Given the description of an element on the screen output the (x, y) to click on. 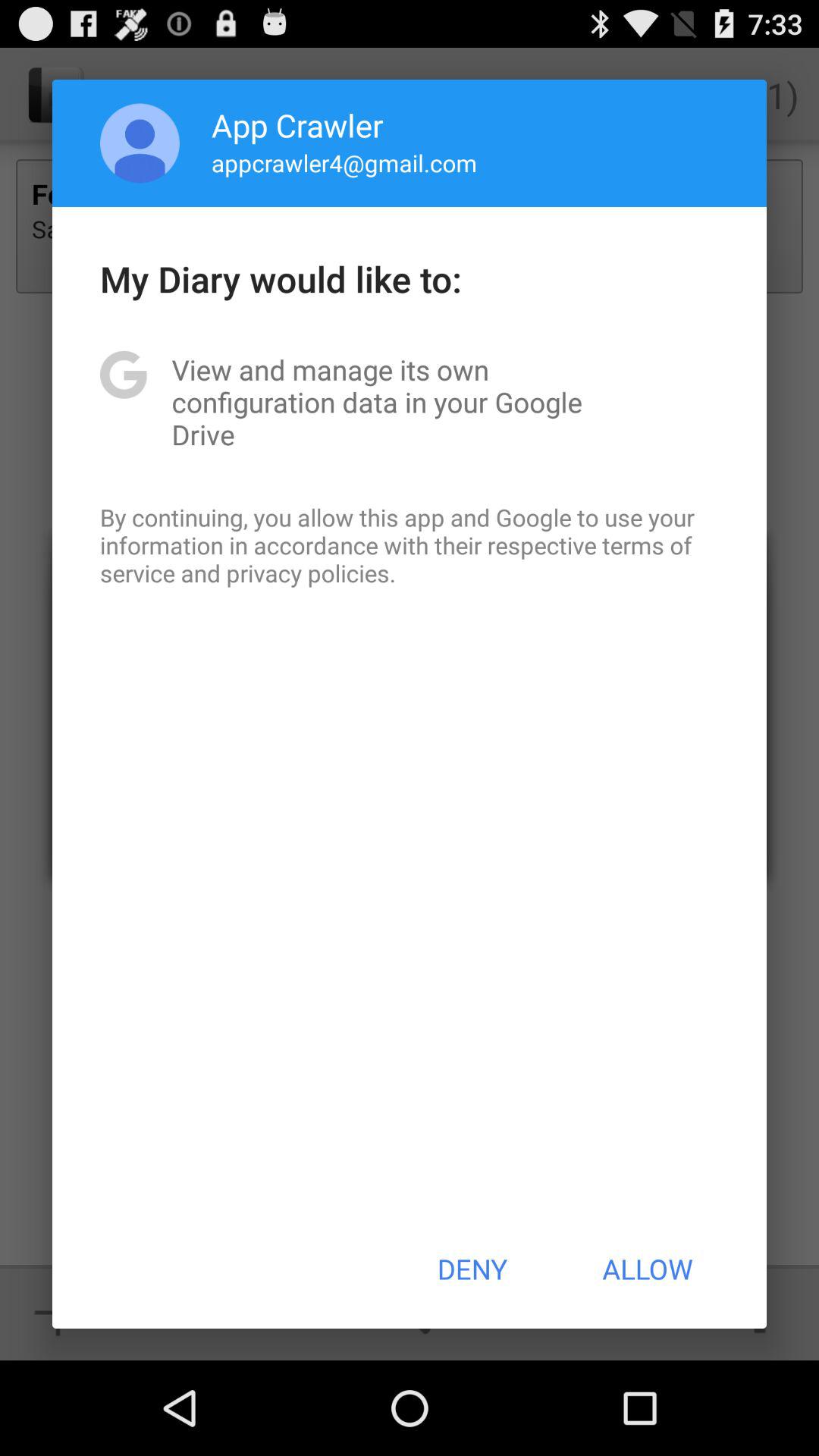
turn off the item at the bottom (471, 1268)
